Given the description of an element on the screen output the (x, y) to click on. 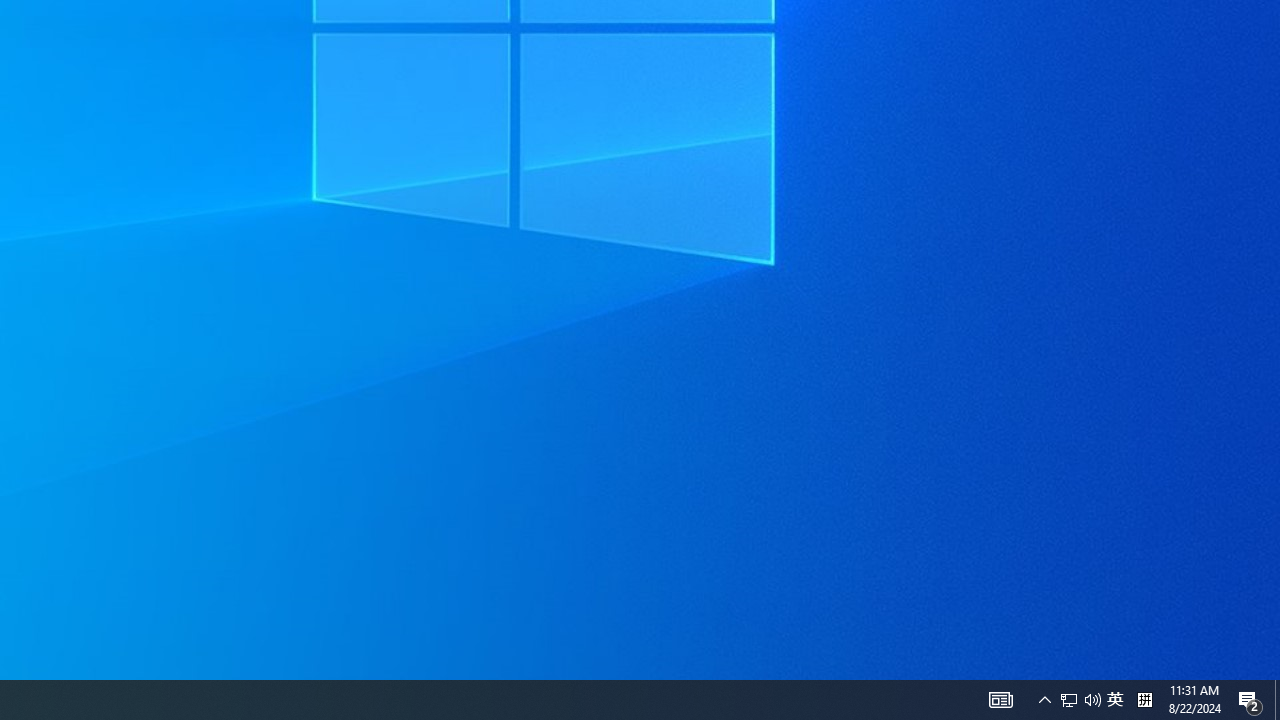
AutomationID: 4105 (1115, 699)
Tray Input Indicator - Chinese (Simplified, China) (1000, 699)
Action Center, 2 new notifications (1144, 699)
